Given the description of an element on the screen output the (x, y) to click on. 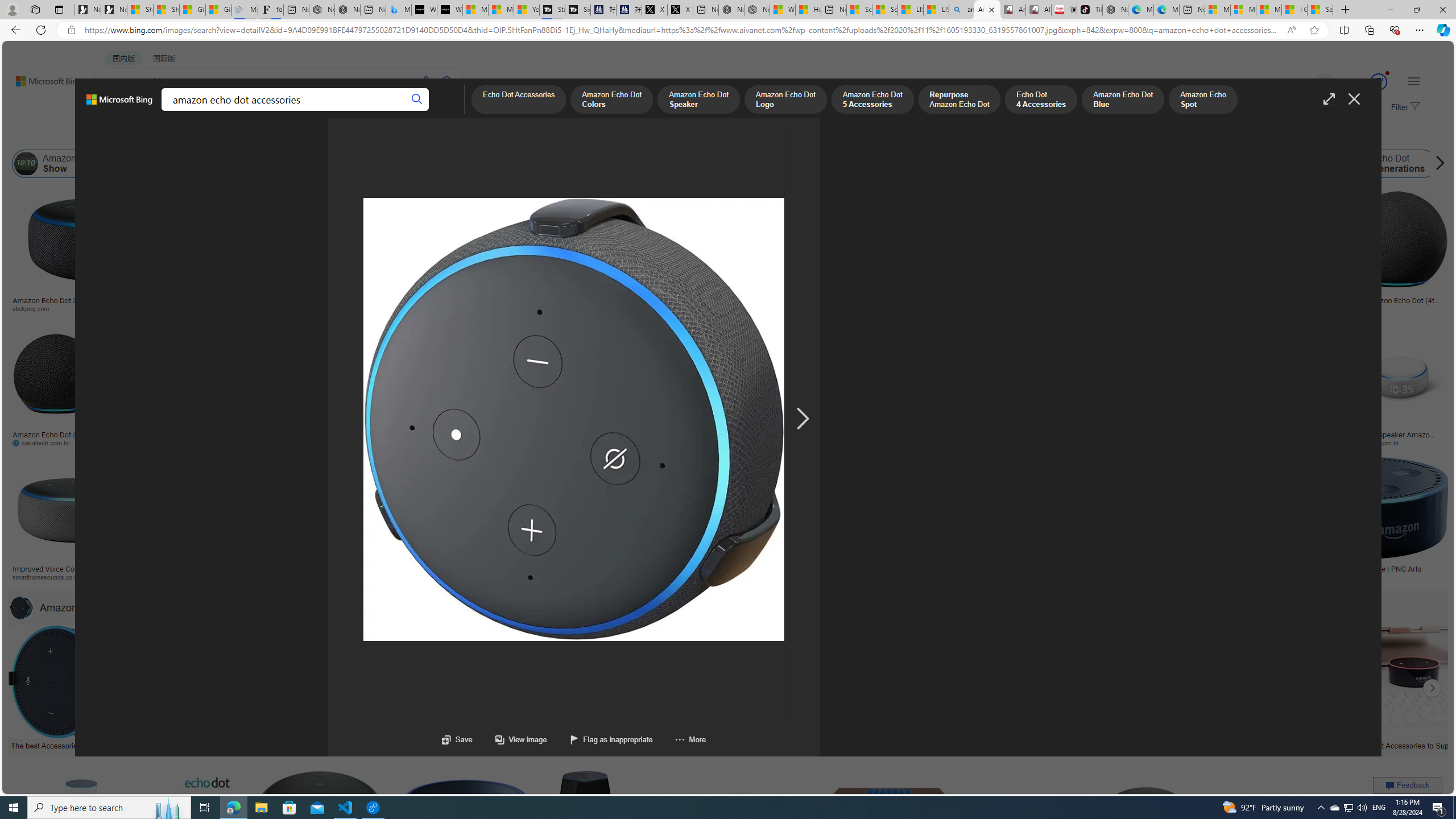
ACADEMIC (311, 111)
Layout (252, 135)
inpower.com.br (1381, 442)
Flag as inappropriate (599, 739)
Echo Dot 4 Accessories (1040, 100)
pnghq.com (1150, 576)
Improved Voice Control with Sonos & Alexa Echo devices (72, 572)
Amazon Echo Dot 3rd (326, 163)
AutomationID: navr (801, 418)
